Given the description of an element on the screen output the (x, y) to click on. 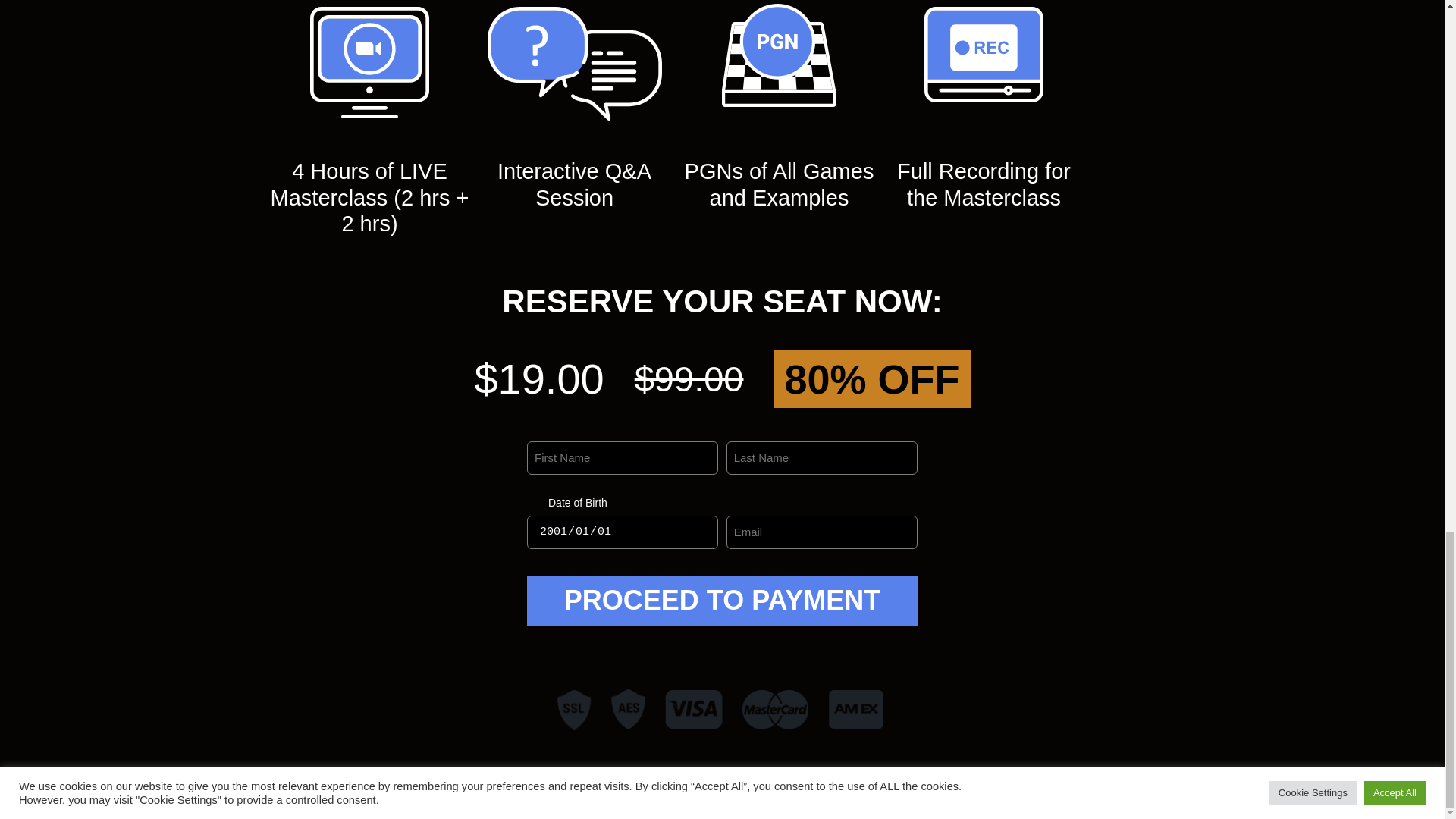
PROCEED TO PAYMENT (722, 600)
Privacy Policy (662, 801)
2001-01-01 (622, 531)
Terms and Conditions (761, 801)
